Given the description of an element on the screen output the (x, y) to click on. 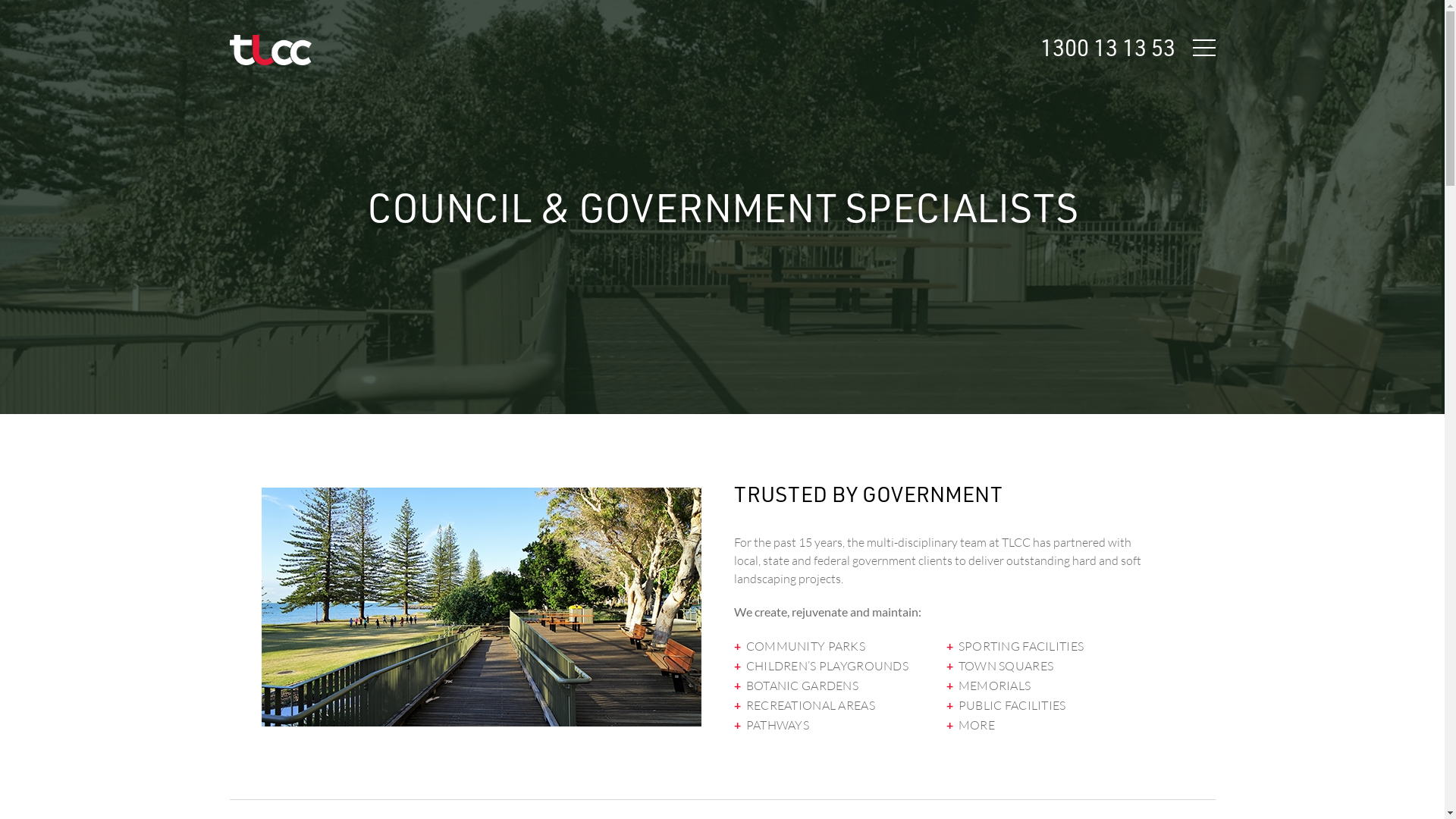
1300 13 13 53 Element type: text (1107, 46)
